Given the description of an element on the screen output the (x, y) to click on. 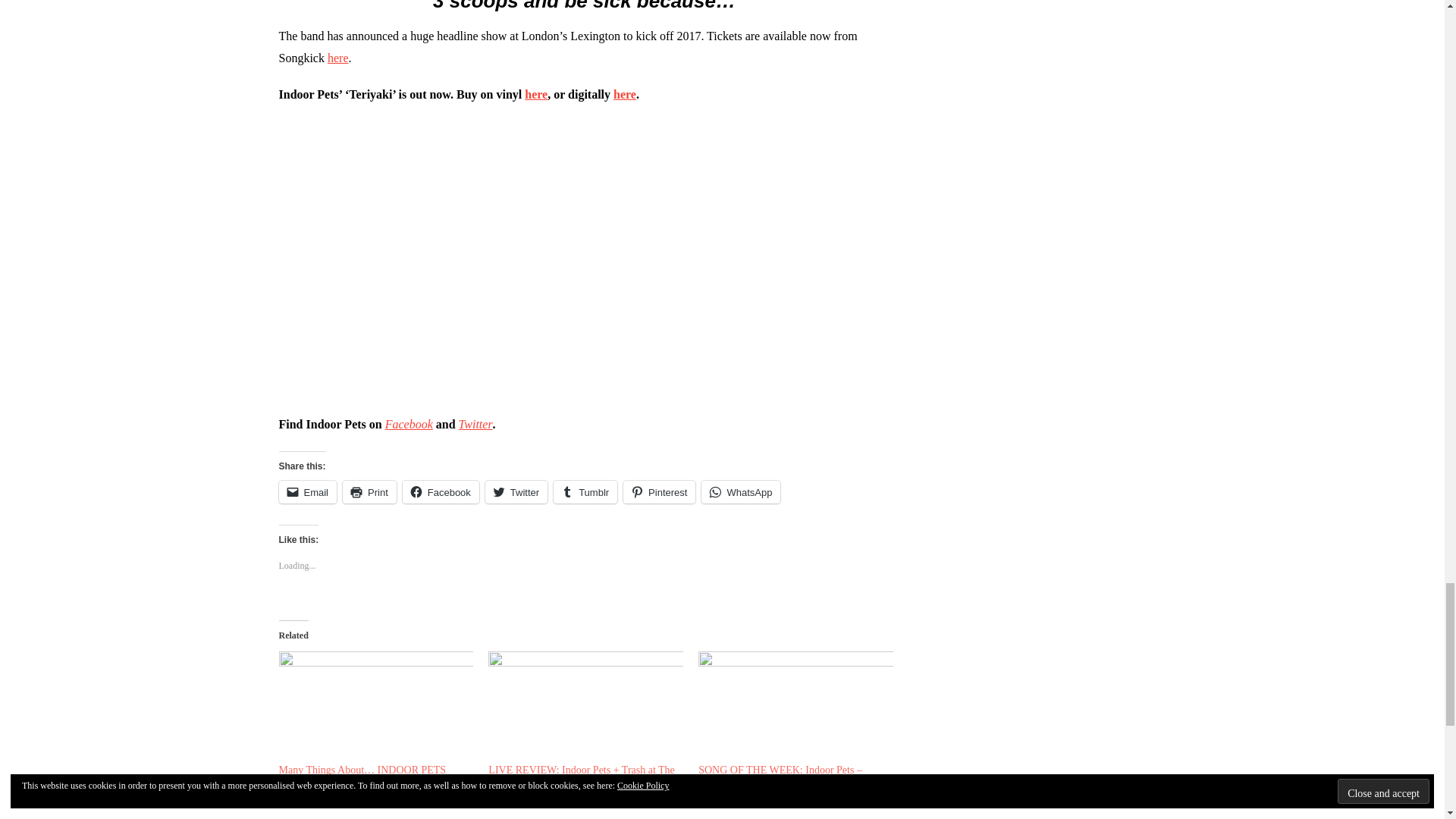
Click to share on Facebook (441, 491)
Print (369, 491)
Click to share on Twitter (515, 491)
Email (308, 491)
Facebook (441, 491)
Click to share on Pinterest (659, 491)
here (624, 93)
Twitter (515, 491)
here (535, 93)
Click to print (369, 491)
Click to share on WhatsApp (740, 491)
Click to email a link to a friend (308, 491)
Facebook (408, 423)
Twitter (475, 423)
Click to share on Tumblr (585, 491)
